Given the description of an element on the screen output the (x, y) to click on. 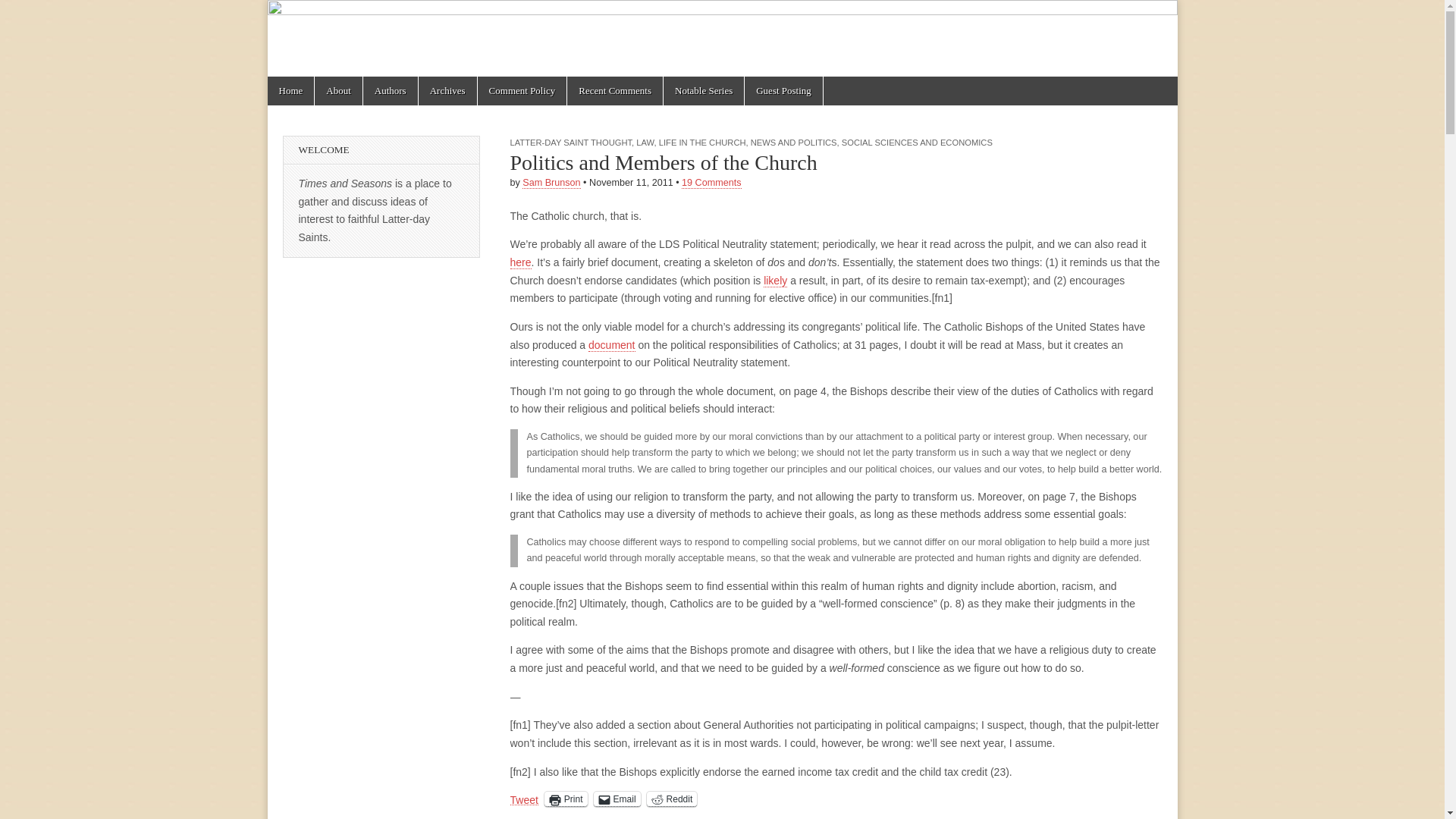
NEWS AND POLITICS (794, 142)
Home (290, 90)
About (338, 90)
19 Comments (711, 183)
Tweet (523, 798)
LIFE IN THE CHURCH (702, 142)
Guest Posting (783, 90)
here (520, 262)
Print (566, 798)
LATTER-DAY SAINT THOUGHT (570, 142)
Email (617, 798)
likely (774, 280)
Click to print (566, 798)
